Given the description of an element on the screen output the (x, y) to click on. 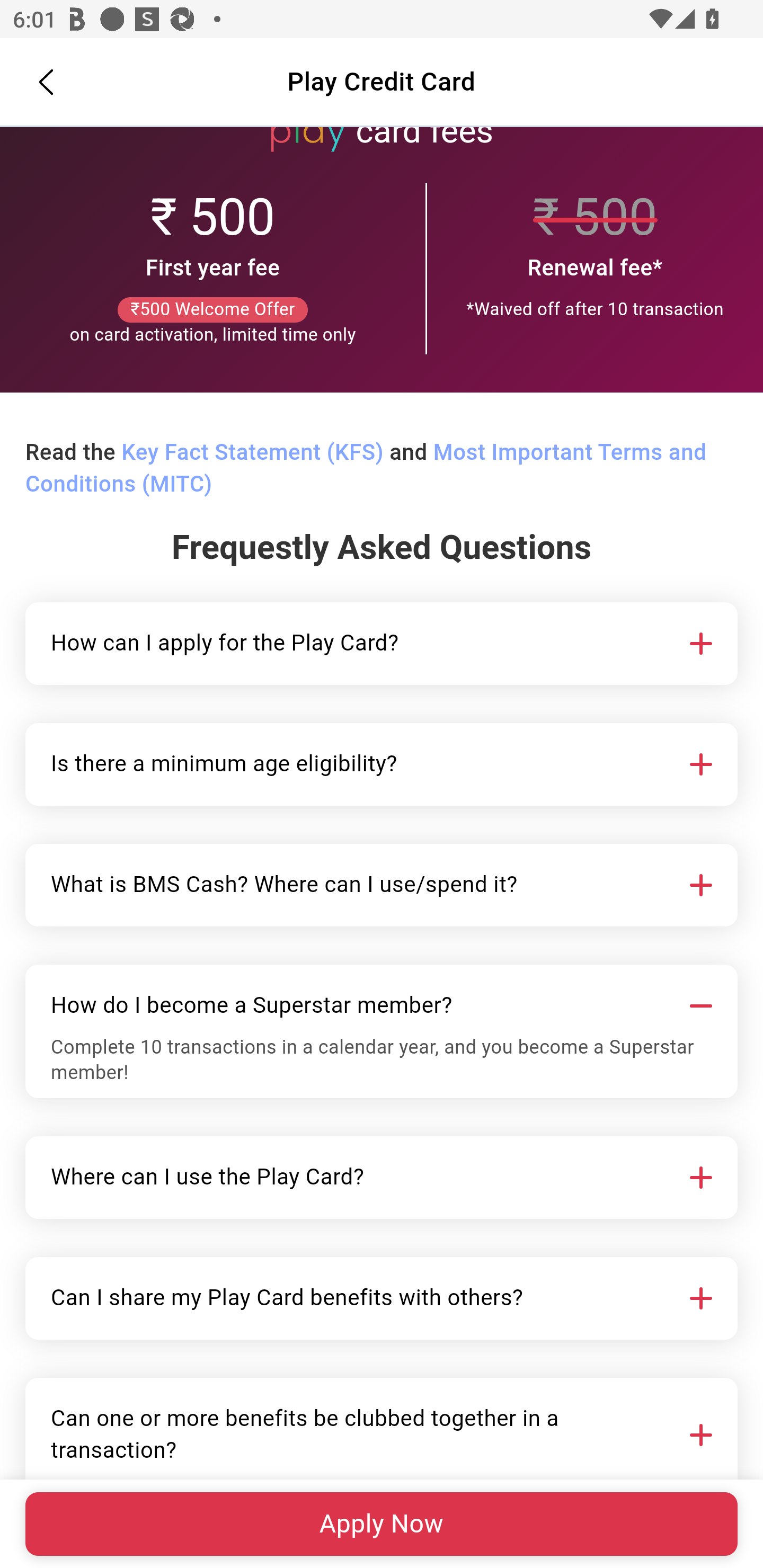
Most Important Terms and Conditions (MITC) (366, 469)
Key Fact Statement (KFS) (252, 453)
